Given the description of an element on the screen output the (x, y) to click on. 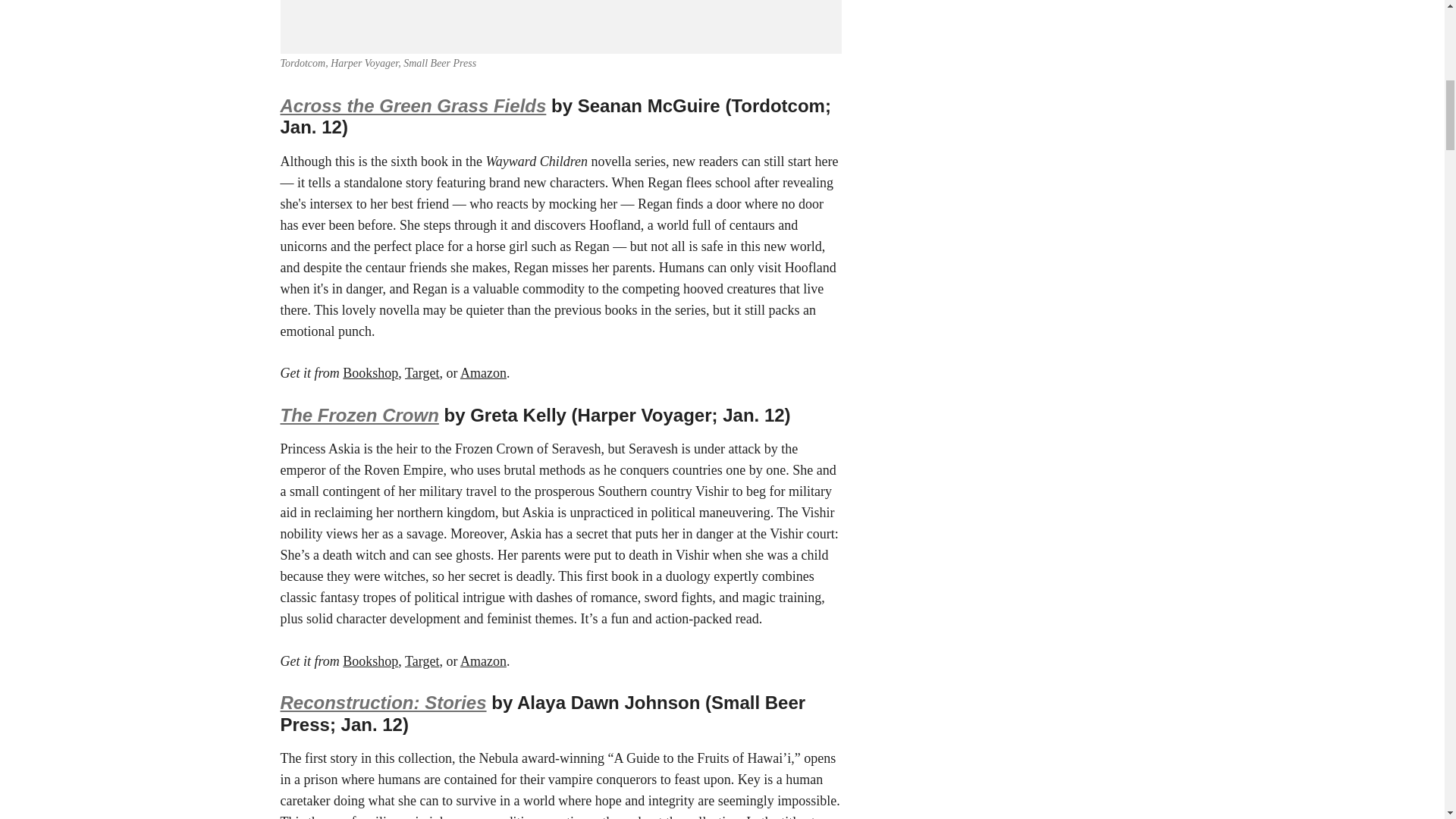
Target (421, 661)
The Frozen Crown (360, 414)
Target (421, 372)
Across the Green Grass Fields (414, 105)
Bookshop (369, 661)
Amazon (483, 372)
Amazon (483, 661)
Bookshop (369, 372)
Reconstruction: Stories (383, 702)
